Given the description of an element on the screen output the (x, y) to click on. 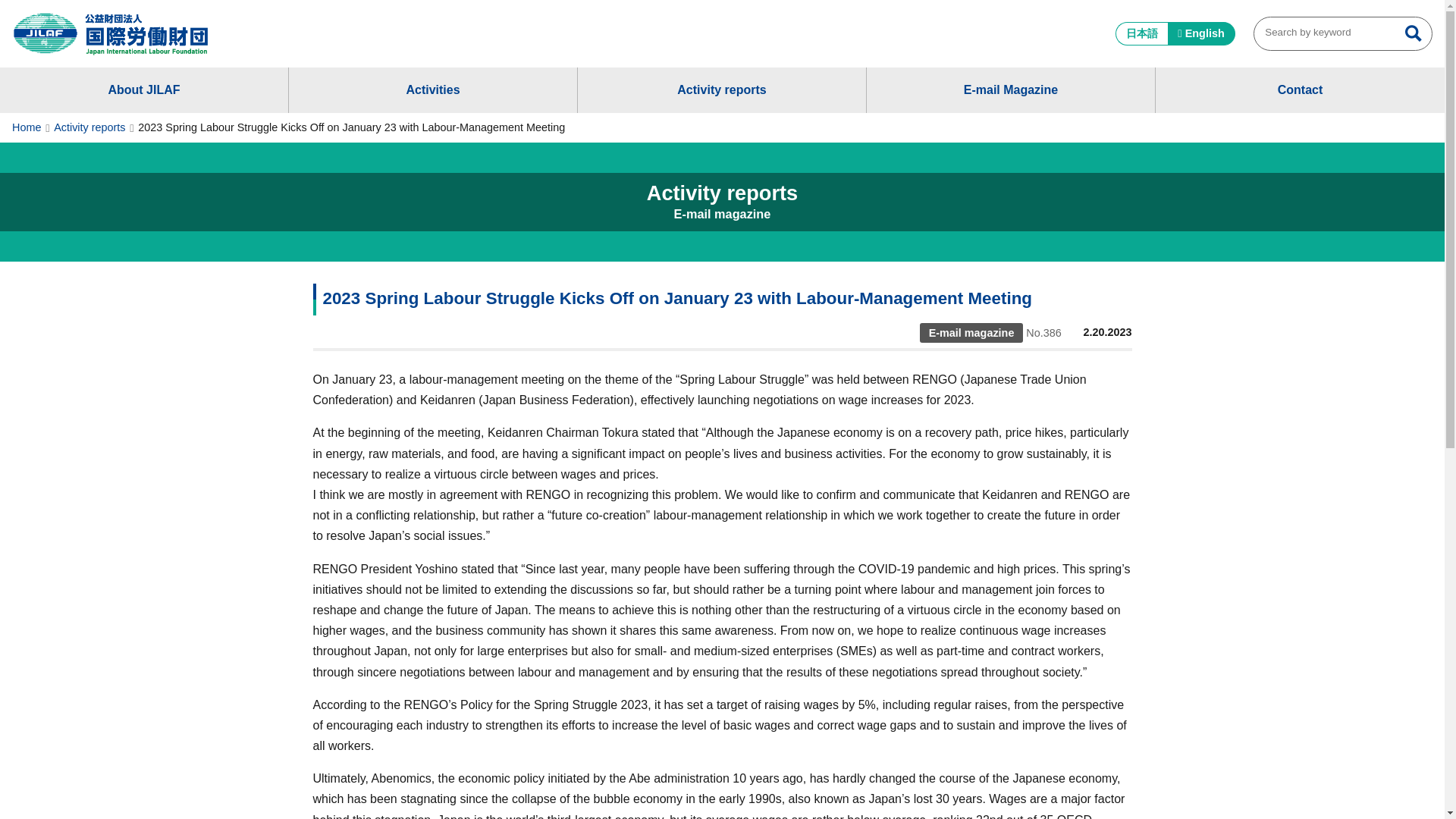
Activity reports (722, 90)
About JILAF (144, 90)
E-mail Magazine (1010, 90)
Home (25, 127)
Activity reports (89, 127)
E-mail magazine (971, 332)
Activities (432, 90)
English (1200, 33)
